Given the description of an element on the screen output the (x, y) to click on. 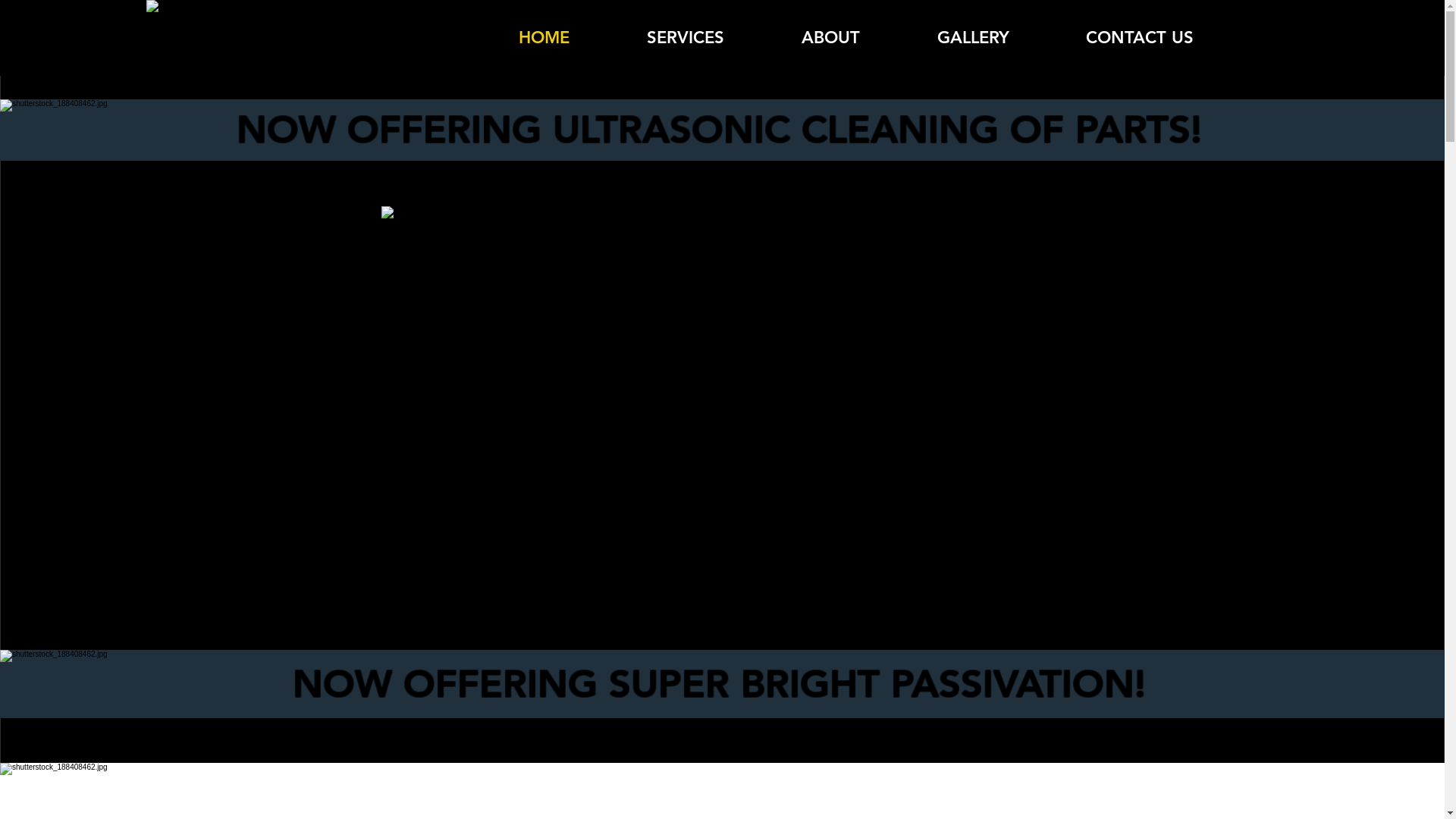
ABOUT Element type: text (830, 37)
CONTACT US Element type: text (1140, 37)
GALLERY Element type: text (972, 37)
SERVICES Element type: text (685, 37)
HOME Element type: text (543, 37)
